Given the description of an element on the screen output the (x, y) to click on. 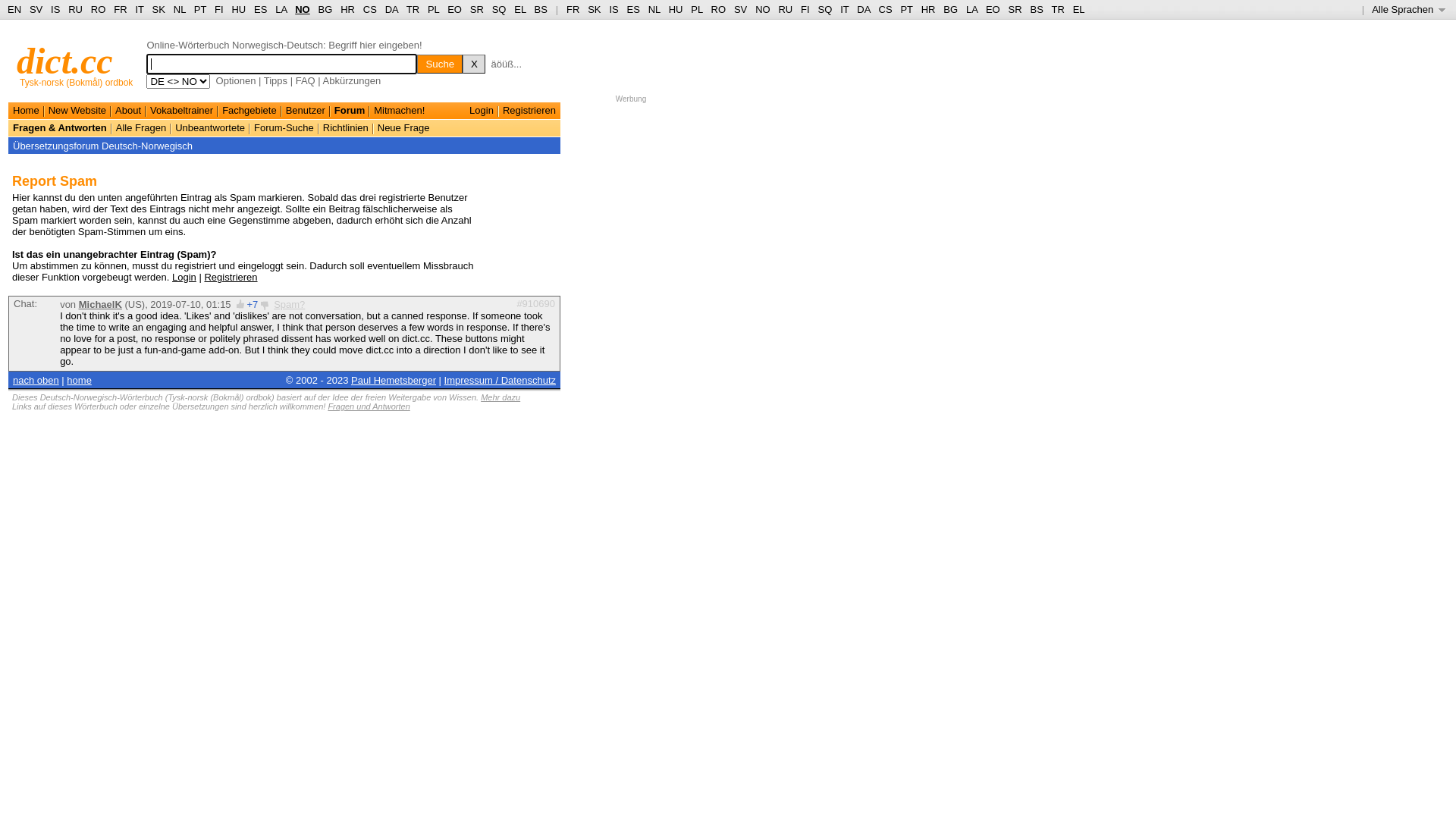
FI Element type: text (218, 9)
HU Element type: text (675, 9)
nach oben Element type: text (35, 379)
PL Element type: text (696, 9)
CS Element type: text (884, 9)
Benutzer Element type: text (305, 110)
LA Element type: text (280, 9)
RU Element type: text (75, 9)
Login Element type: text (481, 110)
Fragen und Antworten Element type: text (368, 406)
ES Element type: text (633, 9)
SV Element type: text (35, 9)
TR Element type: text (412, 9)
EO Element type: text (992, 9)
Mitmachen! Element type: text (398, 110)
NO Element type: text (762, 9)
SQ Element type: text (824, 9)
Vokabeltrainer Element type: text (181, 110)
About Element type: text (128, 110)
NL Element type: text (179, 9)
Forum-Suche Element type: text (283, 127)
X Element type: text (473, 63)
HR Element type: text (928, 9)
NO Element type: text (302, 9)
DA Element type: text (391, 9)
FR Element type: text (572, 9)
Registrieren Element type: text (230, 276)
Richtlinien Element type: text (345, 127)
Fachgebiete Element type: text (249, 110)
SR Element type: text (476, 9)
Impressum / Datenschutz Element type: text (499, 379)
Registrieren Element type: text (528, 110)
FI Element type: text (804, 9)
Alle Fragen Element type: text (141, 127)
Alle Sprachen  Element type: text (1408, 9)
FR Element type: text (119, 9)
BG Element type: text (325, 9)
+7 Element type: text (251, 304)
Neue Frage Element type: text (403, 127)
DA Element type: text (862, 9)
SQ Element type: text (499, 9)
EO Element type: text (454, 9)
PT Element type: text (200, 9)
SK Element type: text (593, 9)
EL Element type: text (519, 9)
Fragen & Antworten Element type: text (59, 127)
dict.cc Element type: text (64, 60)
RO Element type: text (718, 9)
#910690 Element type: text (535, 302)
Login Element type: text (184, 276)
Optionen Element type: text (236, 80)
PL Element type: text (433, 9)
IT Element type: text (138, 9)
Spam? Element type: text (288, 304)
Forum Element type: text (349, 110)
Paul Hemetsberger Element type: text (393, 379)
BS Element type: text (540, 9)
Home Element type: text (25, 110)
HR Element type: text (347, 9)
NL Element type: text (654, 9)
home Element type: text (78, 379)
MichaelK Element type: text (100, 304)
New Website Element type: text (77, 110)
Unbeantwortete Element type: text (209, 127)
TR Element type: text (1057, 9)
PT Element type: text (906, 9)
BS Element type: text (1035, 9)
SV Element type: text (740, 9)
HU Element type: text (238, 9)
Tipps Element type: text (275, 80)
SK Element type: text (158, 9)
EL Element type: text (1079, 9)
IS Element type: text (613, 9)
RO Element type: text (98, 9)
LA Element type: text (971, 9)
FAQ Element type: text (305, 80)
ES Element type: text (260, 9)
Mehr dazu Element type: text (500, 396)
IT Element type: text (844, 9)
RU Element type: text (785, 9)
SR Element type: text (1015, 9)
EN Element type: text (14, 9)
Suche Element type: text (439, 63)
CS Element type: text (369, 9)
IS Element type: text (54, 9)
BG Element type: text (950, 9)
